Given the description of an element on the screen output the (x, y) to click on. 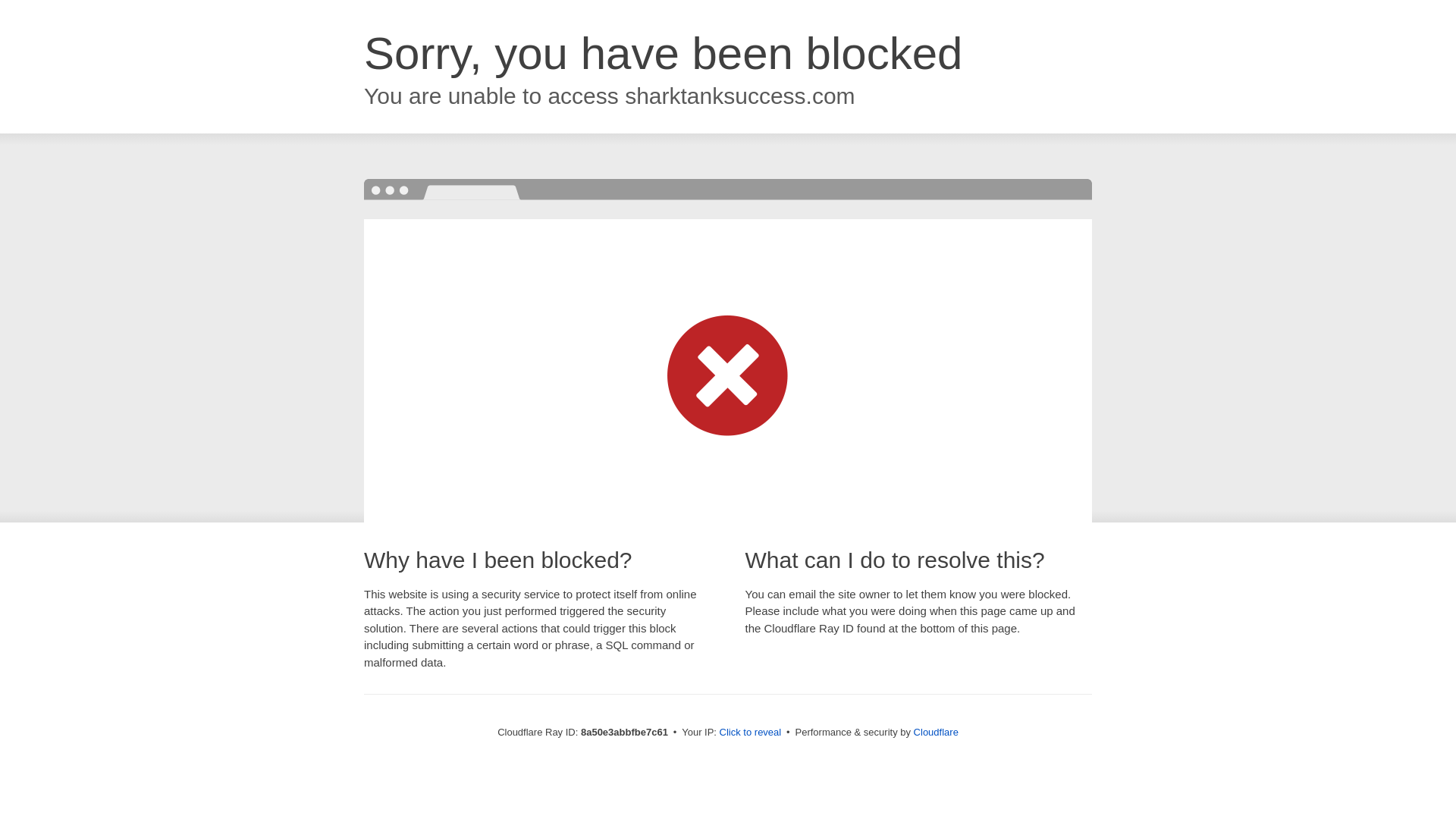
Click to reveal (750, 732)
Cloudflare (936, 731)
